Given the description of an element on the screen output the (x, y) to click on. 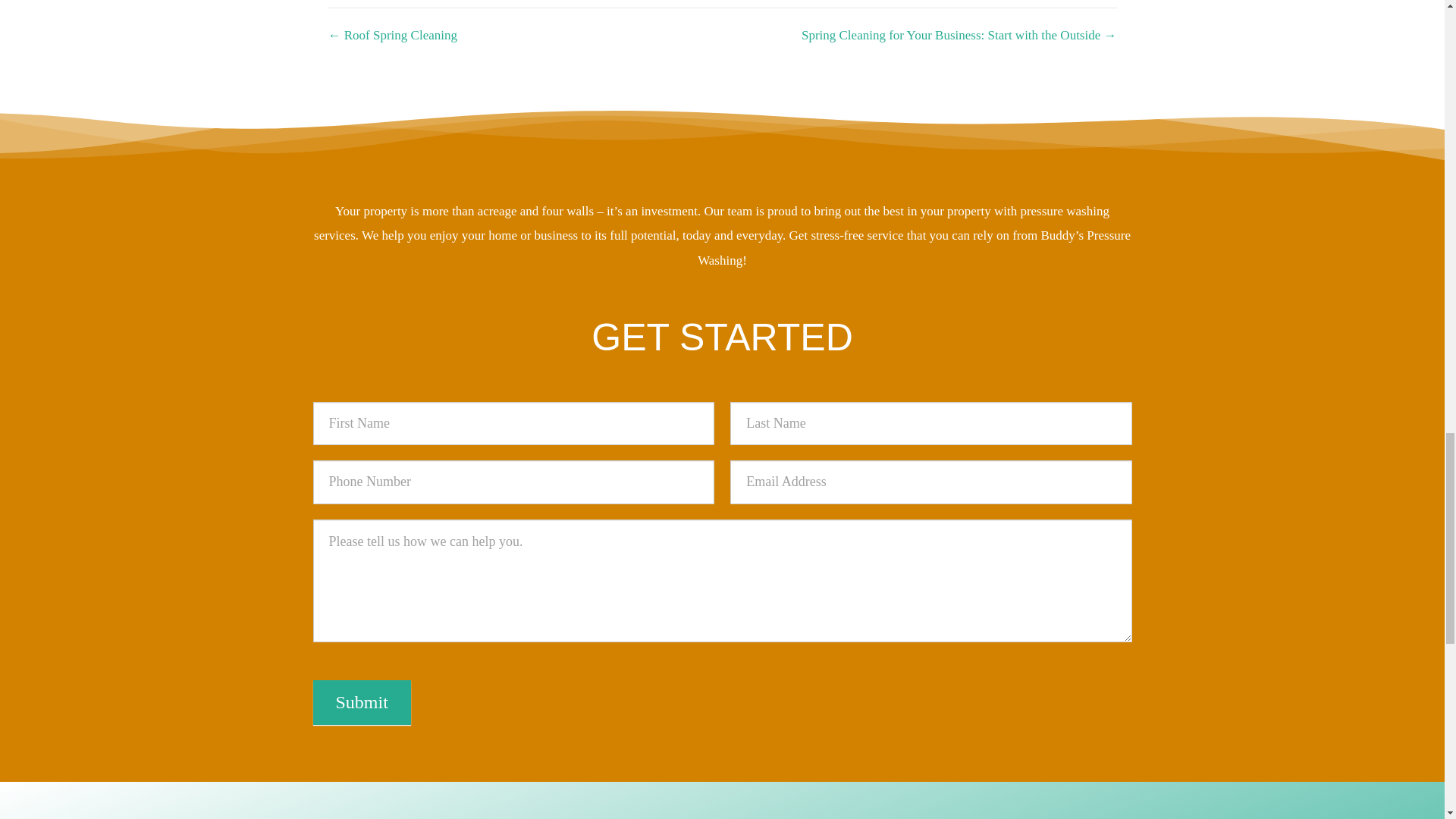
Submit (361, 702)
